Given the description of an element on the screen output the (x, y) to click on. 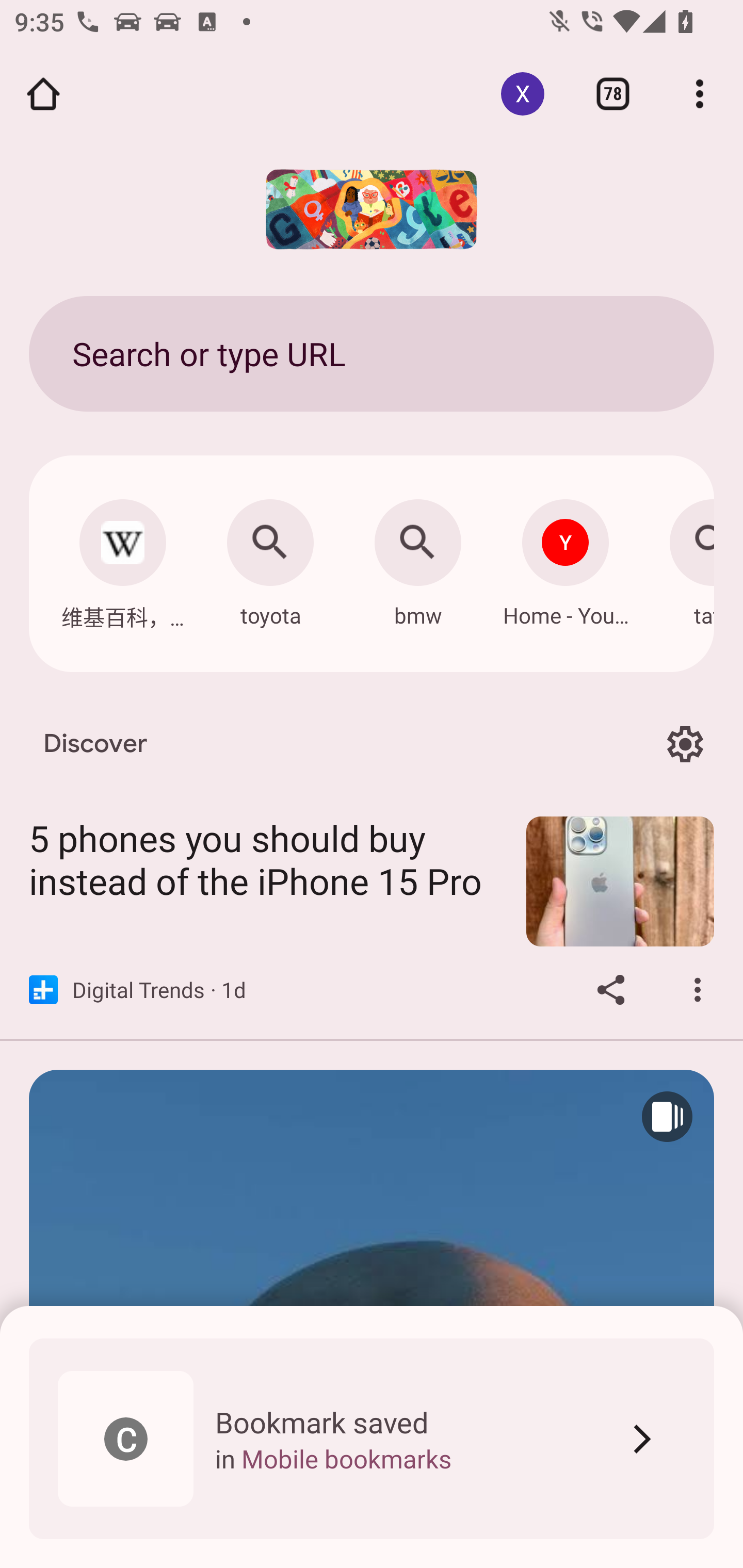
Open the home page (43, 93)
Switch or close tabs (612, 93)
Customize and control Google Chrome (699, 93)
Google doodle: International Women's Day 2024 (371, 209)
Search or type URL (371, 353)
Search: toyota toyota (270, 558)
Search: bmw bmw (417, 558)
Options for Discover (684, 743)
Edit folder Bookmark saved in Mobile bookmarks (371, 1439)
